Given the description of an element on the screen output the (x, y) to click on. 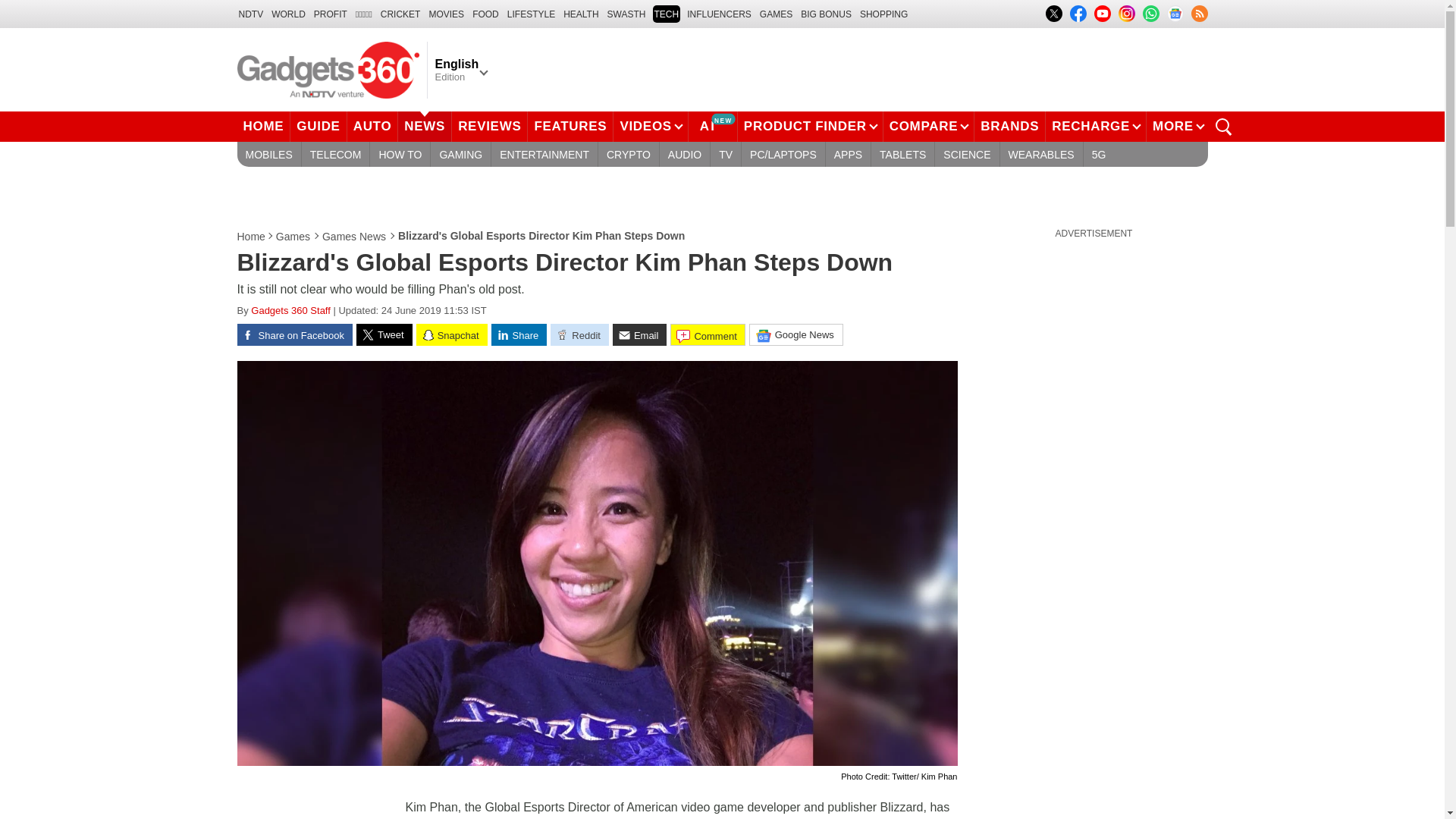
FEATURES (569, 126)
Cricket (400, 13)
MOVIES (445, 13)
VIDEOS (649, 126)
INFLUENCERS (718, 13)
NDTV (249, 13)
SWASTH (626, 13)
FOOD (485, 13)
TECH (665, 13)
MOVIES (445, 13)
